Given the description of an element on the screen output the (x, y) to click on. 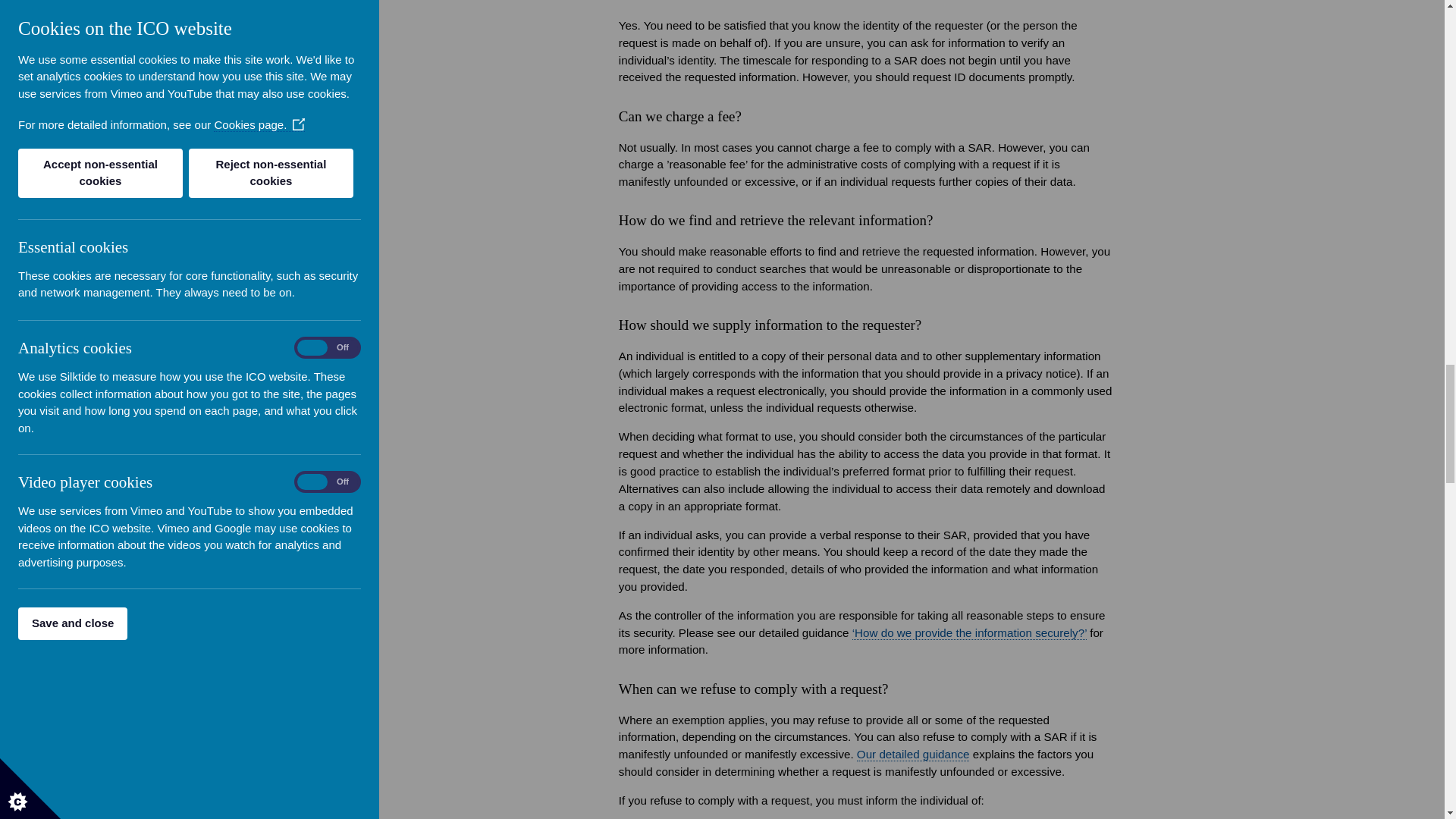
When can we refuse to comply with a request? (913, 754)
